Given the description of an element on the screen output the (x, y) to click on. 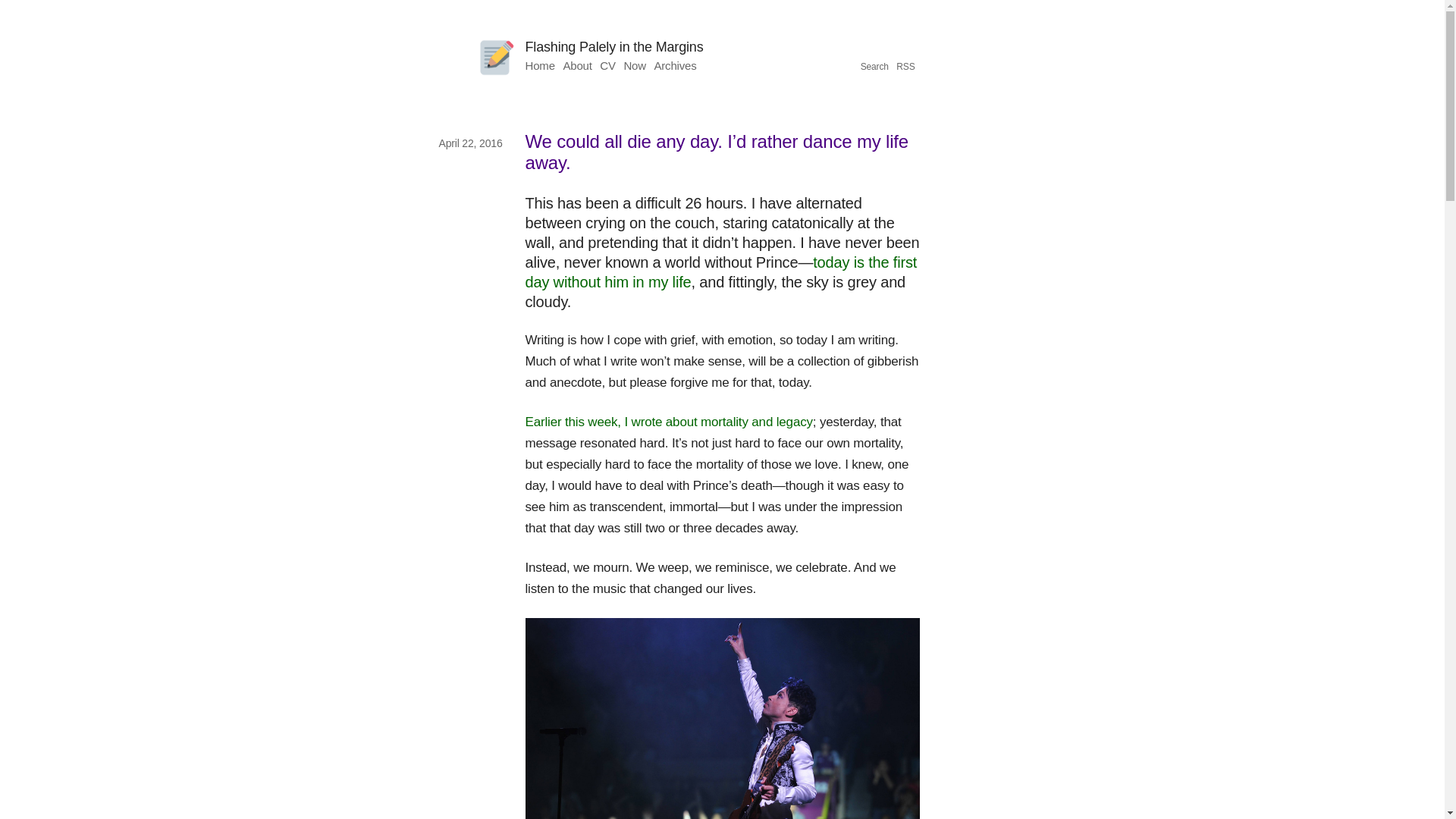
About (576, 65)
Home (539, 65)
Flashing Palely in the Margins (613, 46)
Search Flashing Palely in the Margins (874, 66)
Now (634, 65)
Archives (674, 65)
RSS feed for Flashing Palely in the Margins (905, 66)
About (576, 65)
Earlier this week, I wrote about mortality and legacy (668, 421)
today is the first day without him in my life (720, 272)
